Given the description of an element on the screen output the (x, y) to click on. 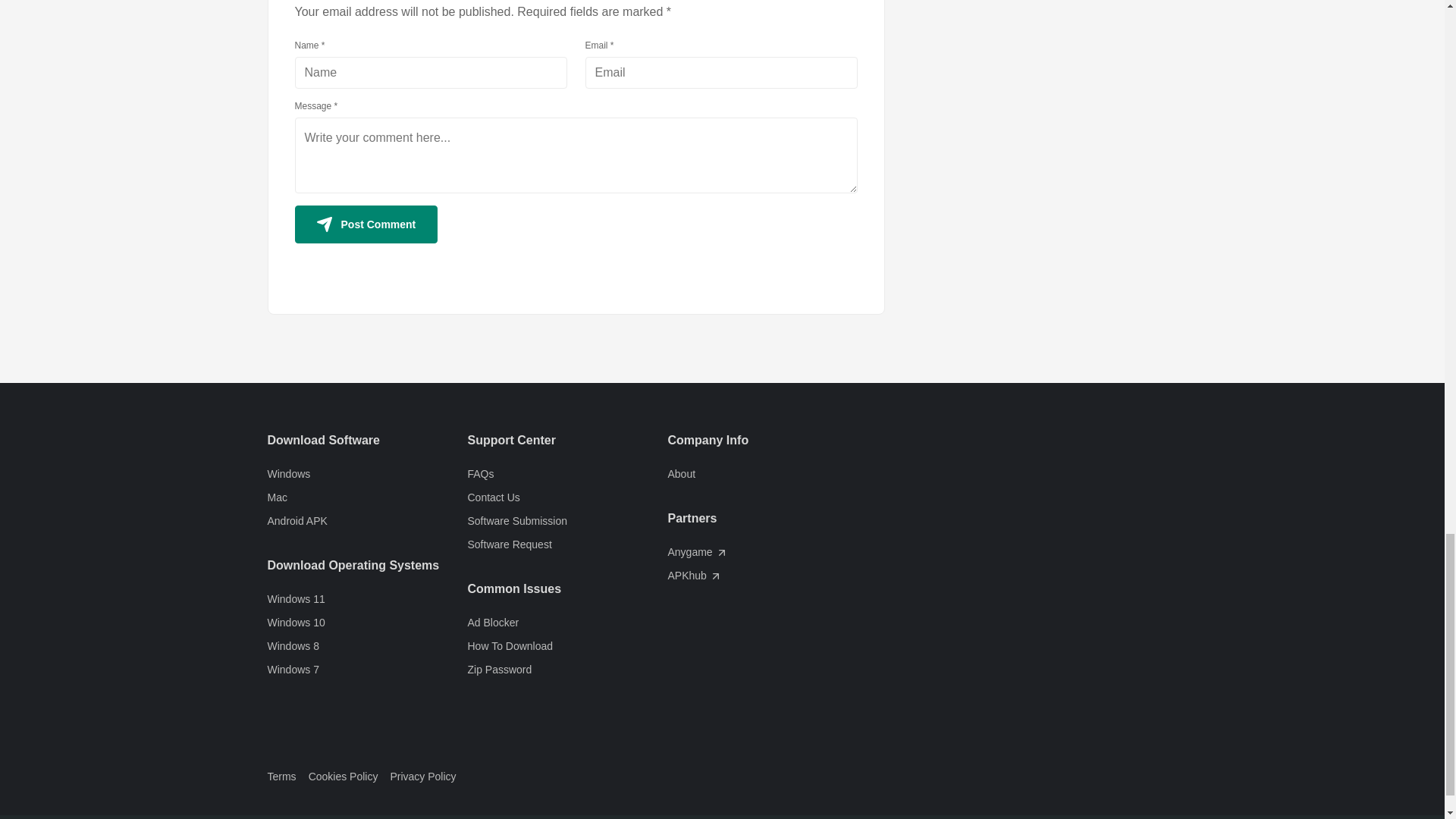
Windows 11 (366, 599)
Android APK (366, 521)
Mac (366, 497)
Post Comment (366, 224)
Windows (366, 474)
Windows 10 (366, 622)
